Given the description of an element on the screen output the (x, y) to click on. 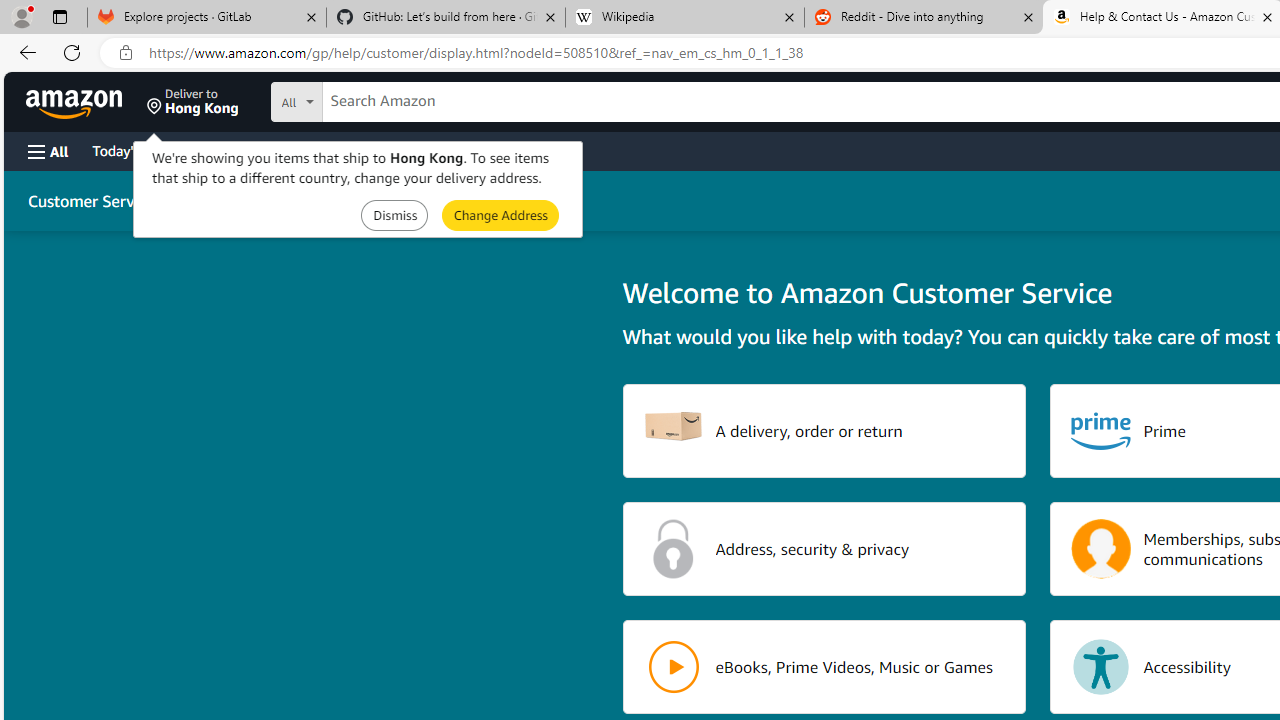
A delivery, order or return (824, 430)
Digital Services and Device Support (402, 200)
Registry (360, 150)
Search in (371, 99)
Amazon (76, 101)
Open Menu (48, 151)
